Given the description of an element on the screen output the (x, y) to click on. 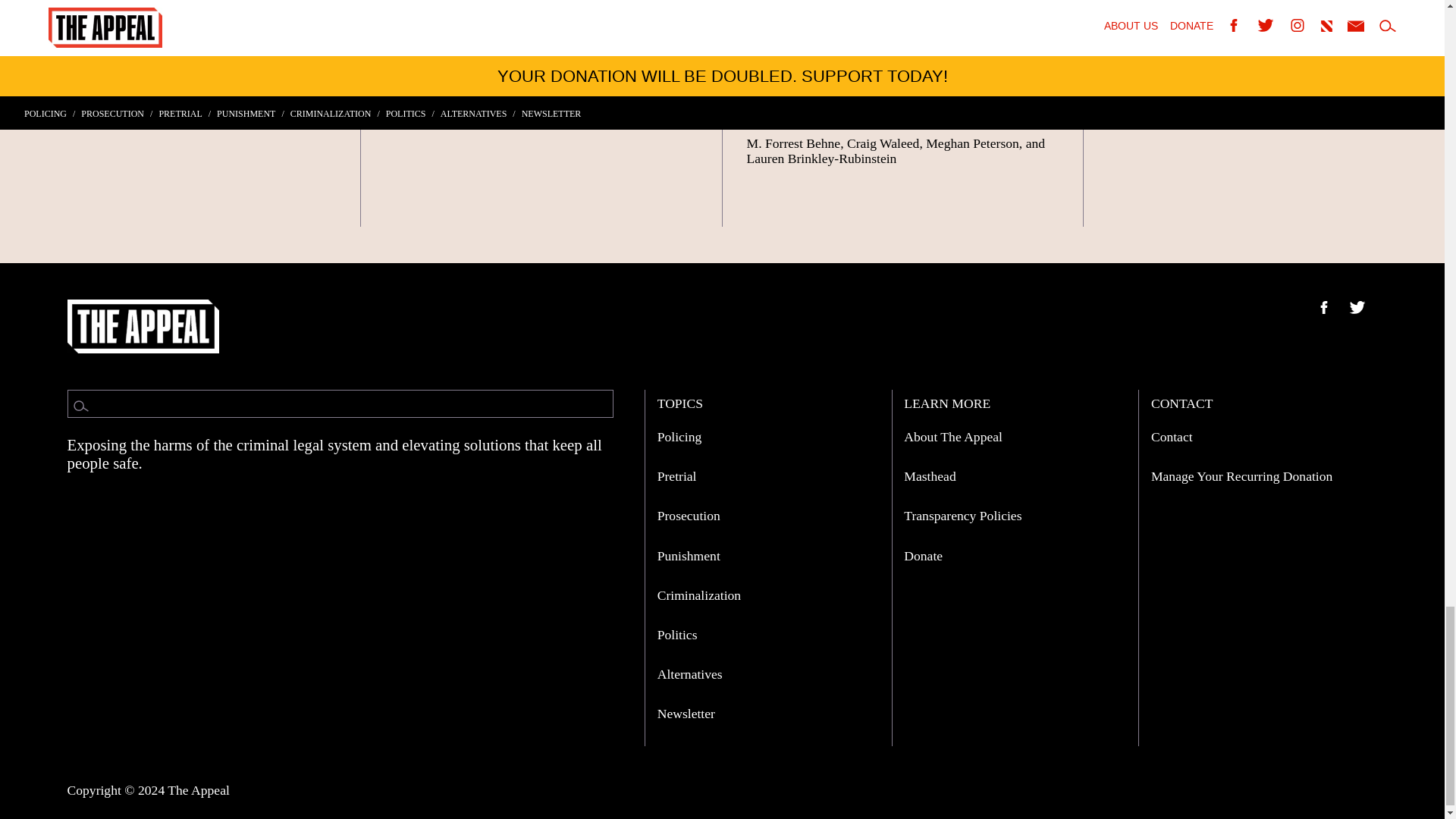
Pretrial (677, 476)
Prosecution (689, 515)
Policing (679, 436)
